Given the description of an element on the screen output the (x, y) to click on. 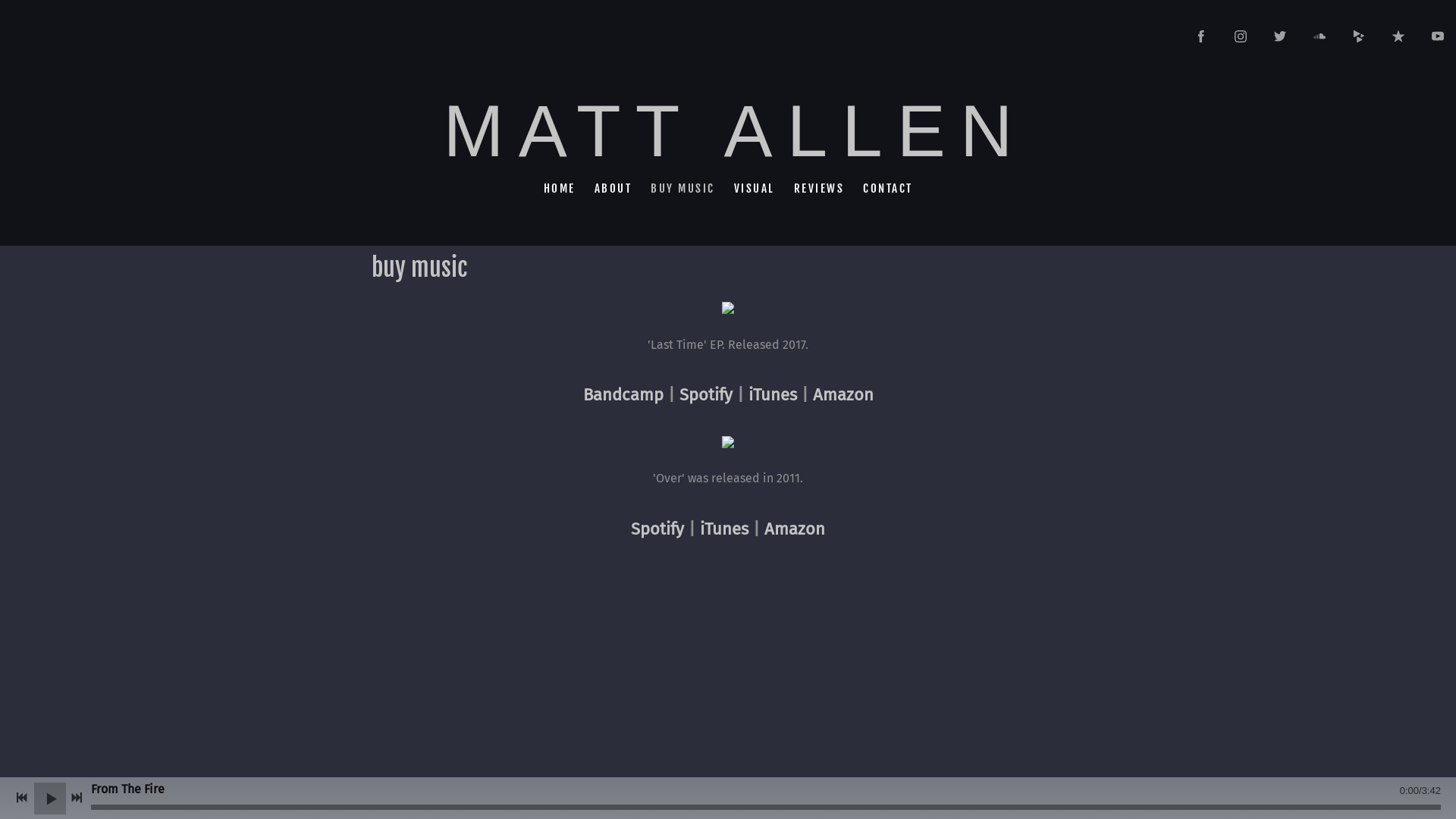
Bandcamp Element type: text (622, 394)
REVIEWS Element type: text (818, 187)
Next track Element type: hover (76, 797)
https://store.cdbaby.com/Artist/MattAllen Element type: hover (1358, 36)
CONTACT Element type: text (887, 187)
http://instagram.com/mattjallen Element type: hover (1240, 36)
Spotify Element type: text (657, 528)
http://soundcloud.com/mattallenmusic Element type: hover (1319, 36)
VISUAL Element type: text (754, 187)
http://www.youtube.com/channel/UC5Q4wl3QjQpr279hqGgHzCg Element type: hover (1437, 36)
Amazon Element type: text (794, 528)
http://twitter.com/mattjallenmusic Element type: hover (1280, 36)
Amazon Element type: text (842, 394)
Play Element type: hover (49, 797)
http://www.facebook.com/matt.allen.musician Element type: hover (1201, 36)
https://itunes.apple.com/au/album/last-time-ep/id1236266302 Element type: hover (1398, 36)
ABOUT Element type: text (612, 187)
Previous track Element type: hover (21, 797)
iTunes Element type: text (723, 528)
Spotify Element type: text (705, 394)
HOME Element type: text (558, 187)
BUY MUSIC Element type: text (682, 187)
iTunes Element type: text (771, 394)
MATT ALLEN Element type: text (727, 149)
